Given the description of an element on the screen output the (x, y) to click on. 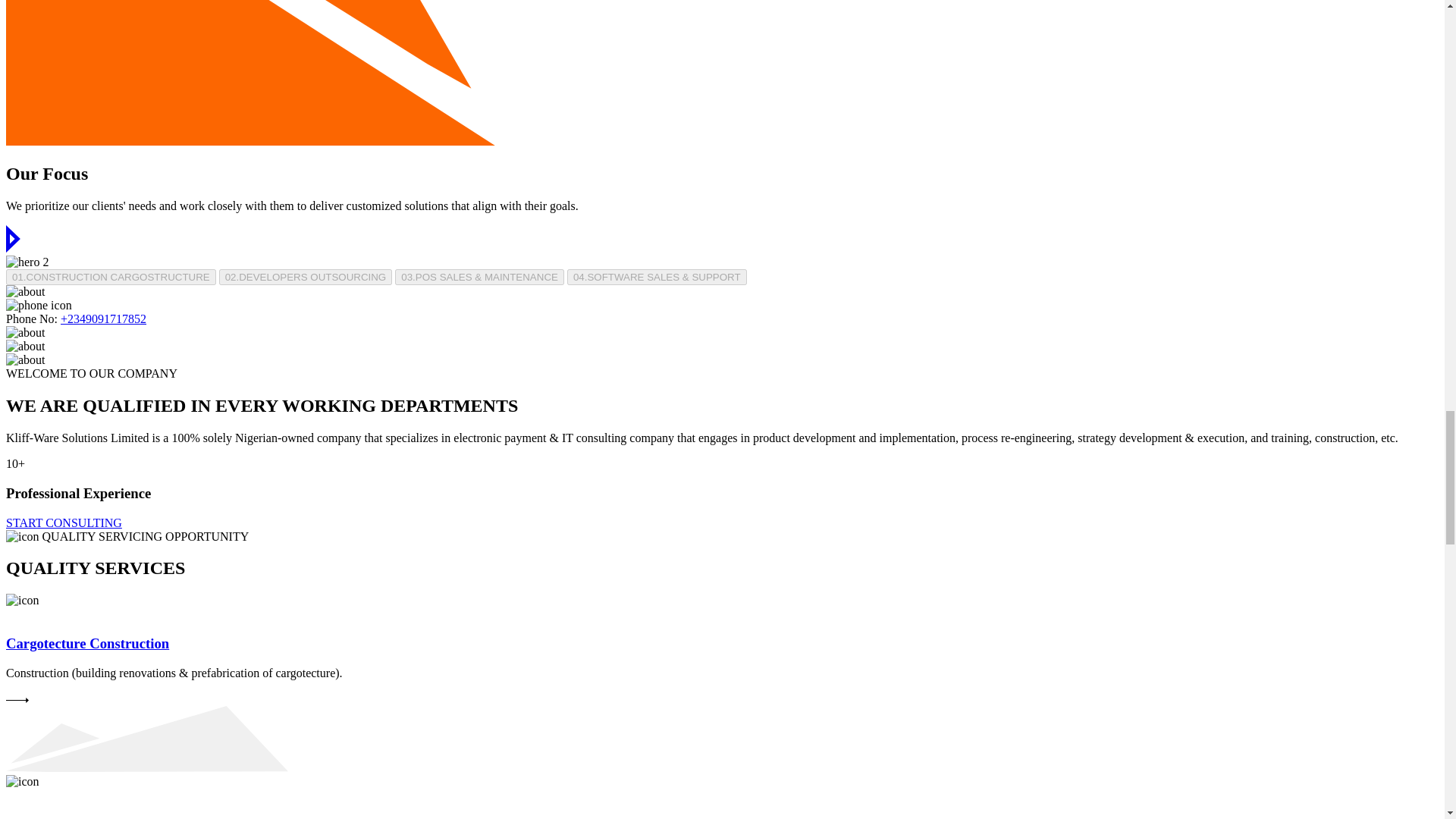
01.CONSTRUCTION CARGOSTRUCTURE (110, 277)
02.DEVELOPERS OUTSOURCING (306, 277)
